Given the description of an element on the screen output the (x, y) to click on. 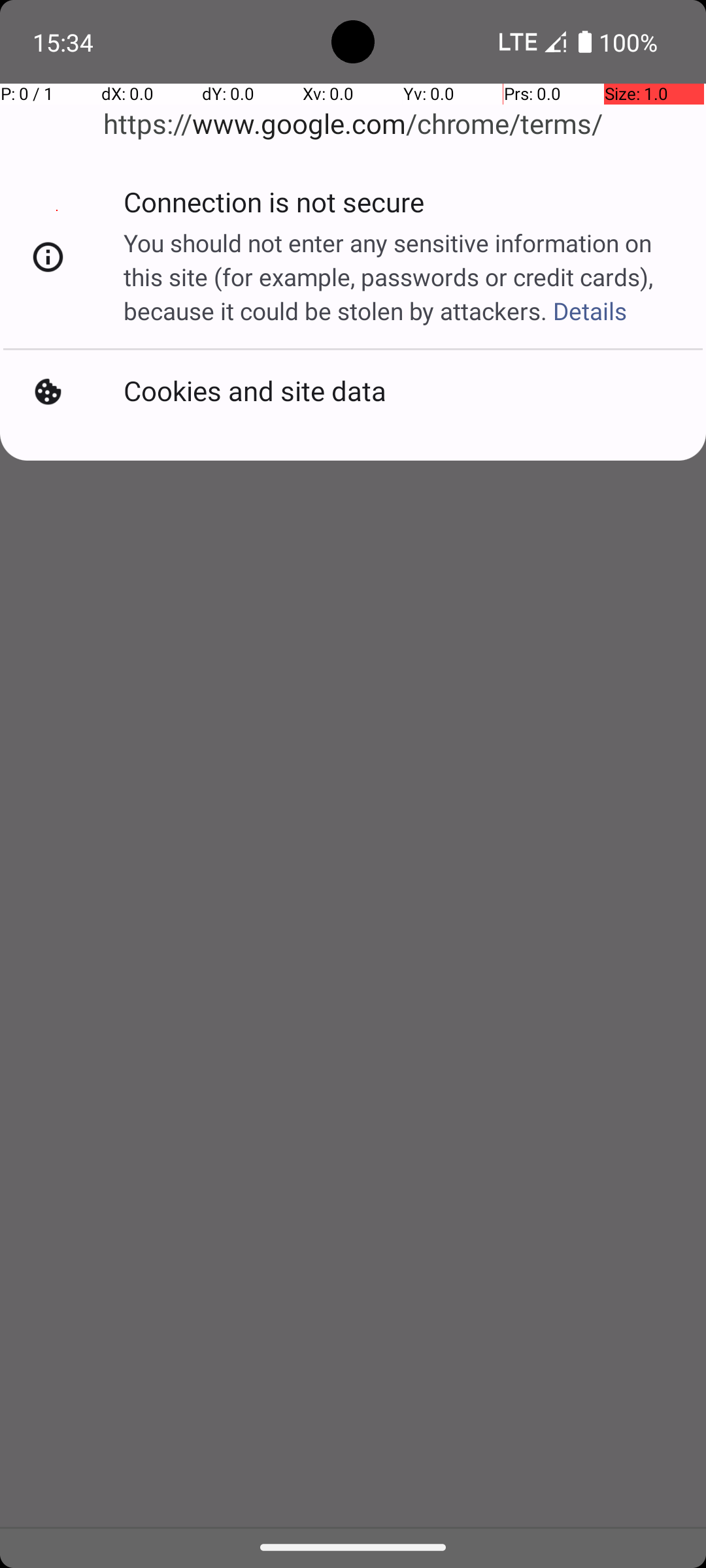
You should not enter any sensitive information on this site (for example, passwords or credit cards), because it could be stolen by attackers. Details Element type: android.widget.TextView (399, 277)
